Given the description of an element on the screen output the (x, y) to click on. 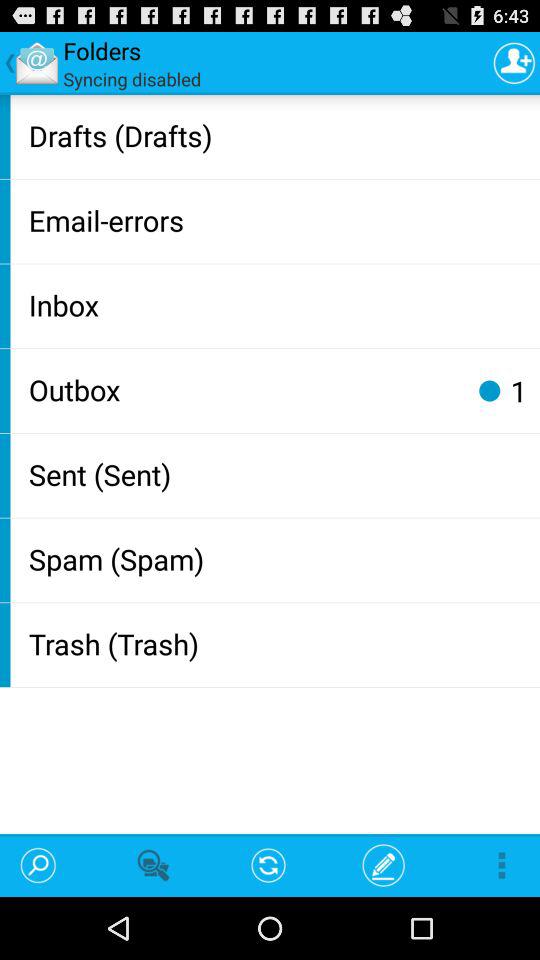
launch the icon above the drafts (drafts) item (514, 62)
